Given the description of an element on the screen output the (x, y) to click on. 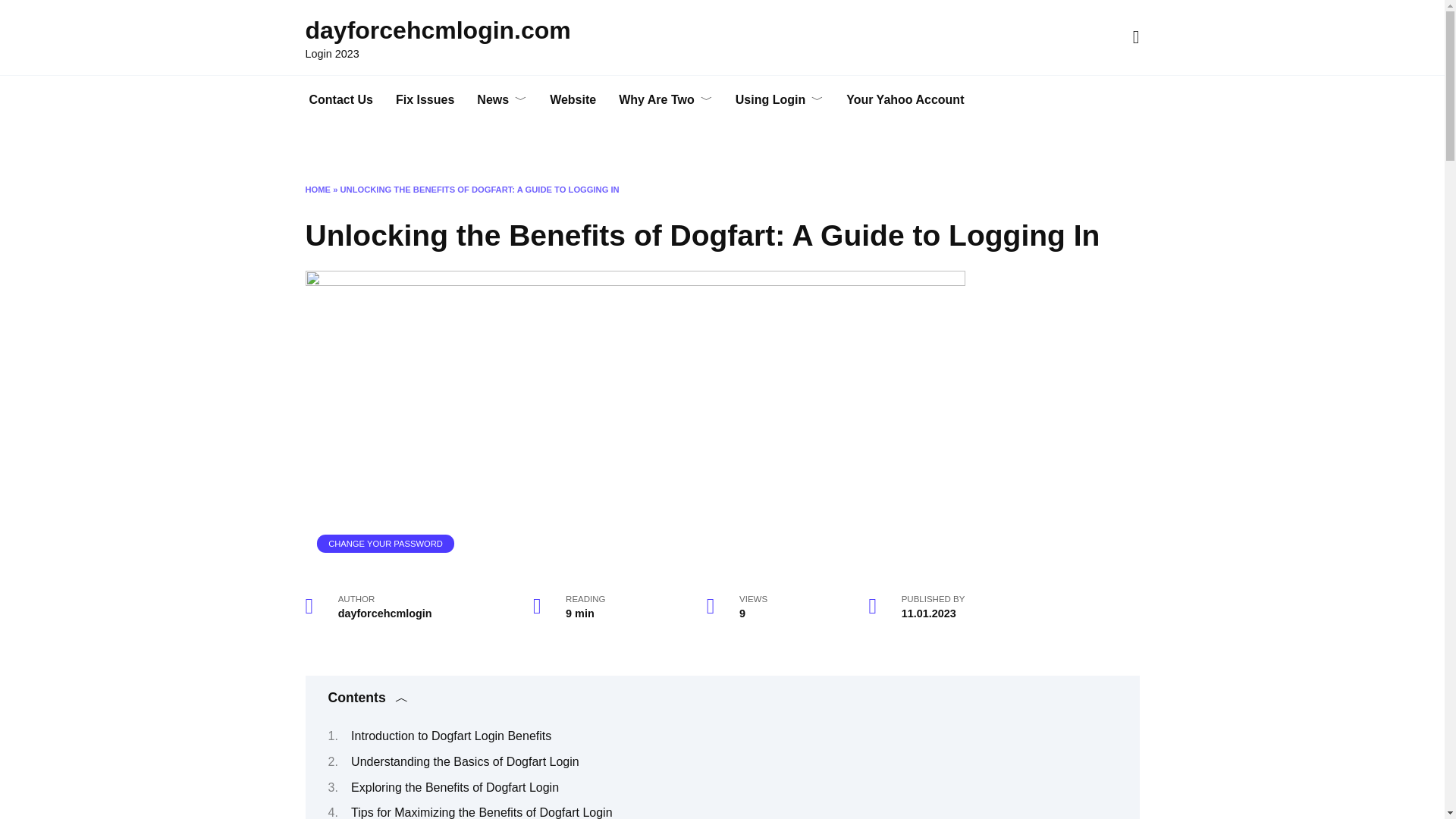
Introduction to Dogfart Login Benefits (450, 735)
HOME (317, 189)
Contact Us (340, 100)
Why Are Two (665, 100)
Your Yahoo Account (904, 100)
CHANGE YOUR PASSWORD (385, 542)
News (501, 100)
Understanding the Basics of Dogfart Login (464, 761)
Using Login (778, 100)
Exploring the Benefits of Dogfart Login (454, 787)
